Given the description of an element on the screen output the (x, y) to click on. 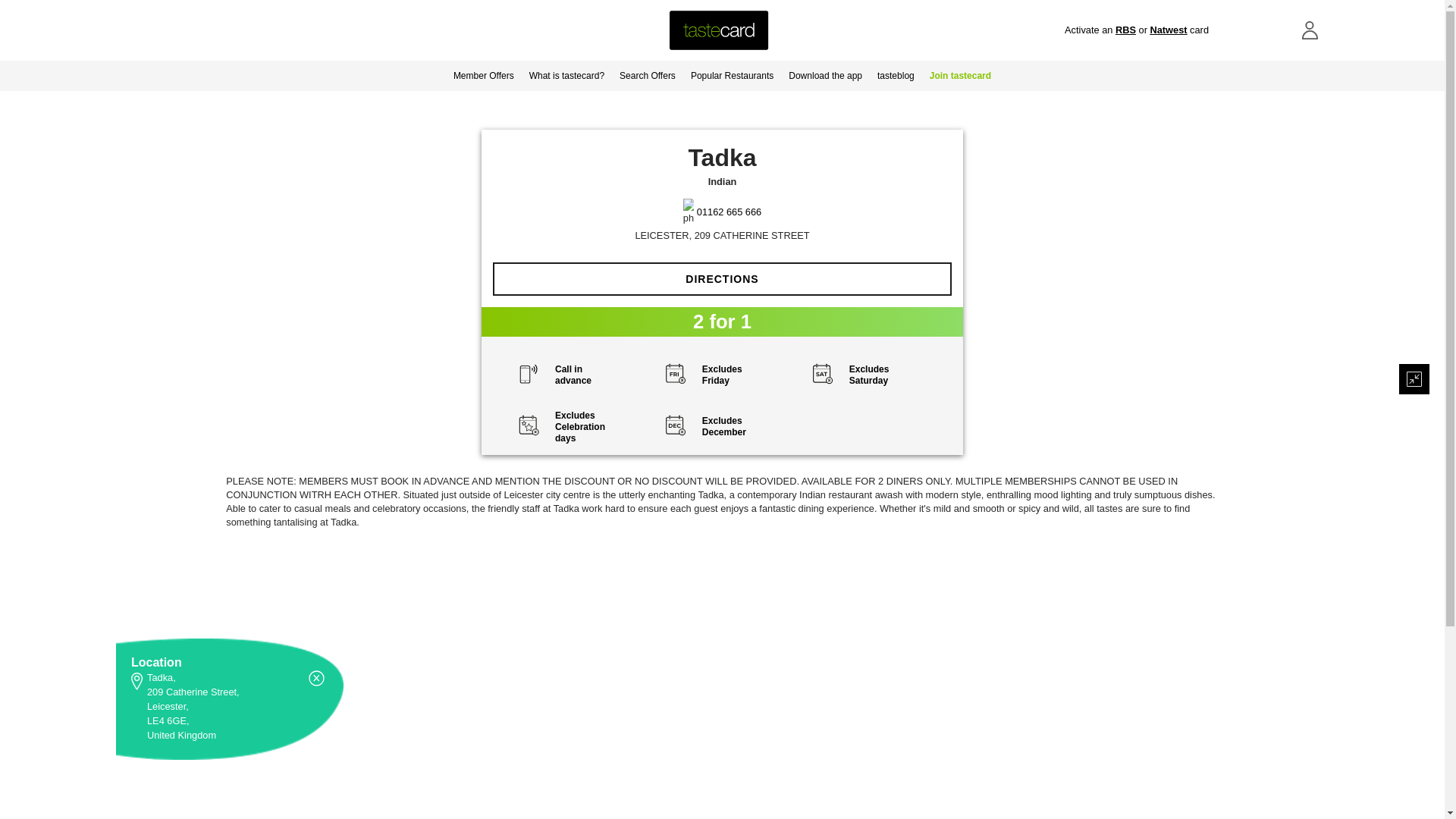
Popular Restaurants (731, 75)
Natwest (1168, 30)
Join tastecard (959, 75)
tasteblog (895, 75)
Member Offers (483, 75)
RBS (1125, 30)
Download the app (824, 75)
Search Offers (646, 75)
What is tastecard? (566, 75)
